Given the description of an element on the screen output the (x, y) to click on. 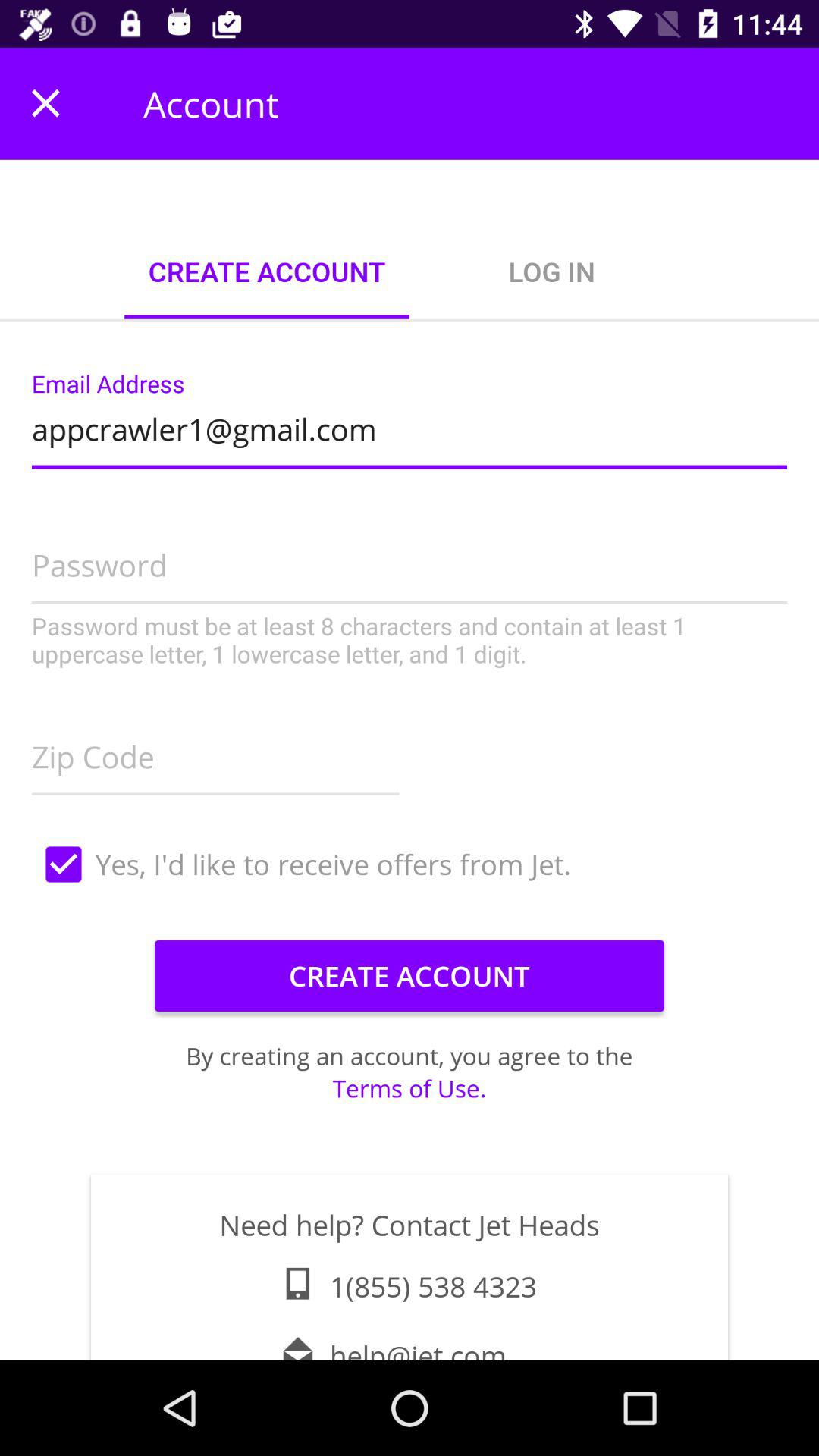
press the icon below the by creating an (409, 1088)
